Given the description of an element on the screen output the (x, y) to click on. 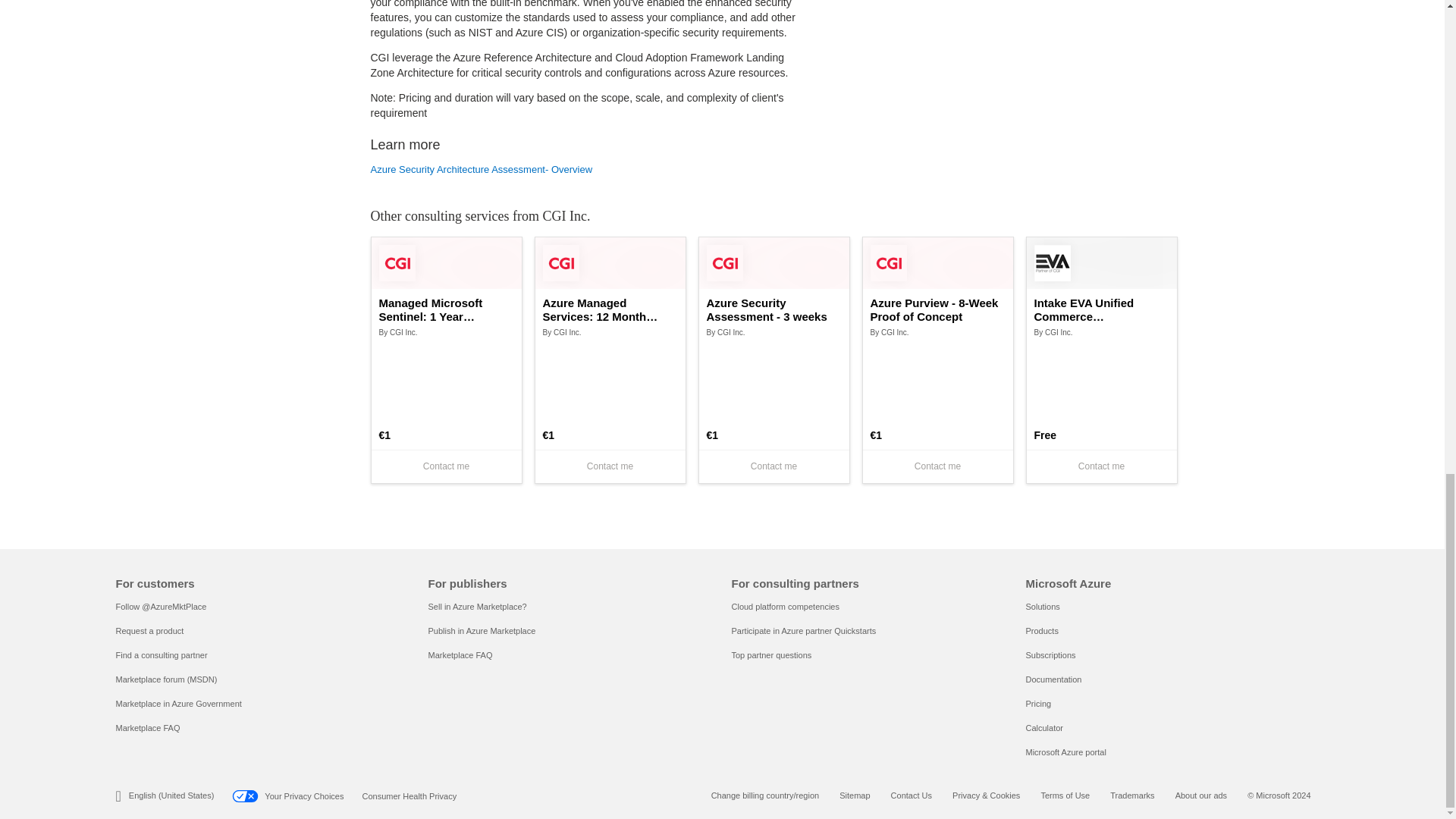
Azure Managed Services: 12 Month Implementation (610, 309)
Azure Security Assessment - 3 weeks (773, 309)
Intake EVA Unified Commerce Implementation (1101, 309)
Azure Purview - 8-Week Proof of Concept (938, 309)
Managed Microsoft Sentinel: 1 Year Implementation (445, 309)
